Given the description of an element on the screen output the (x, y) to click on. 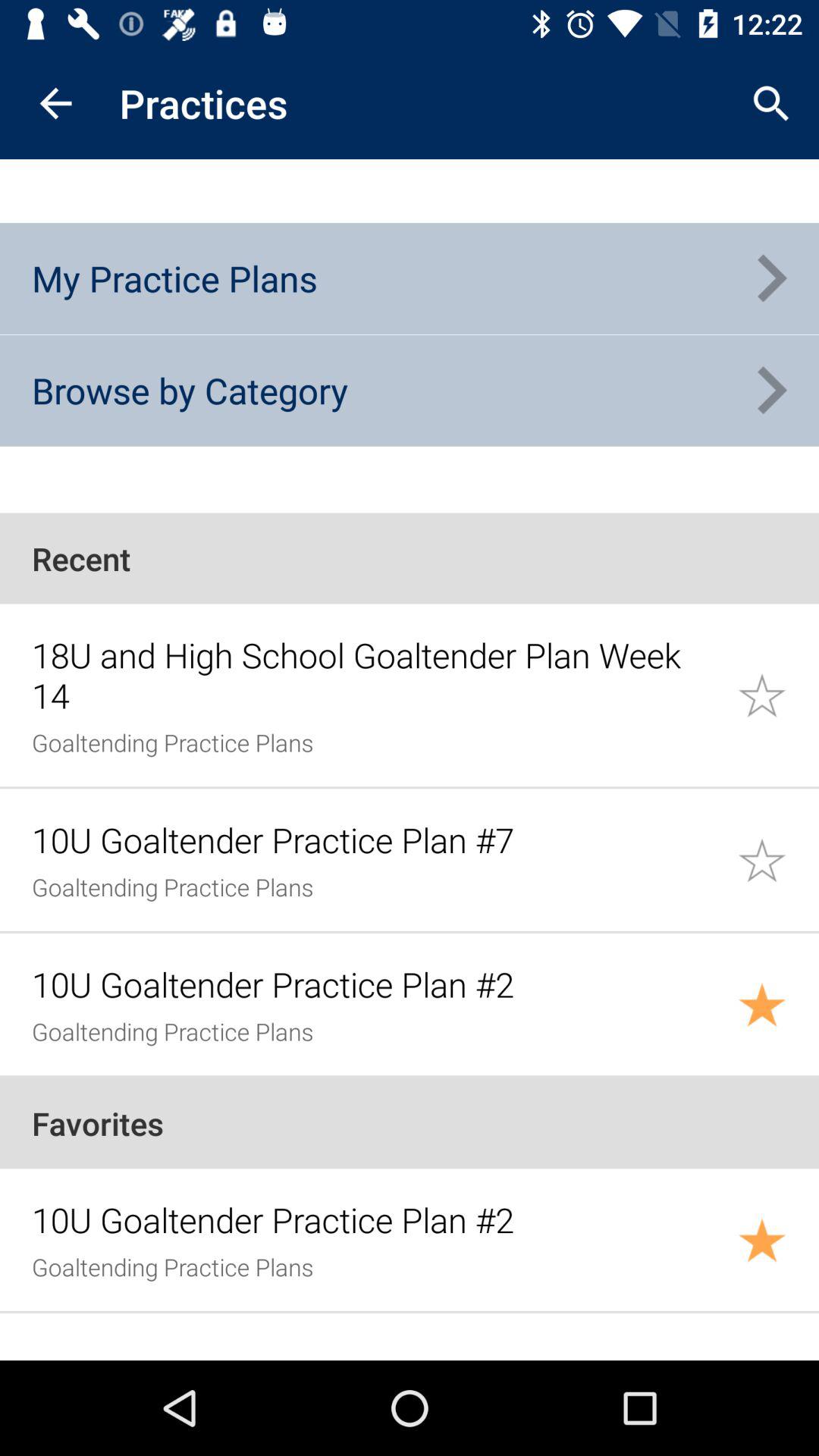
tap the item above my practice plans icon (55, 103)
